Given the description of an element on the screen output the (x, y) to click on. 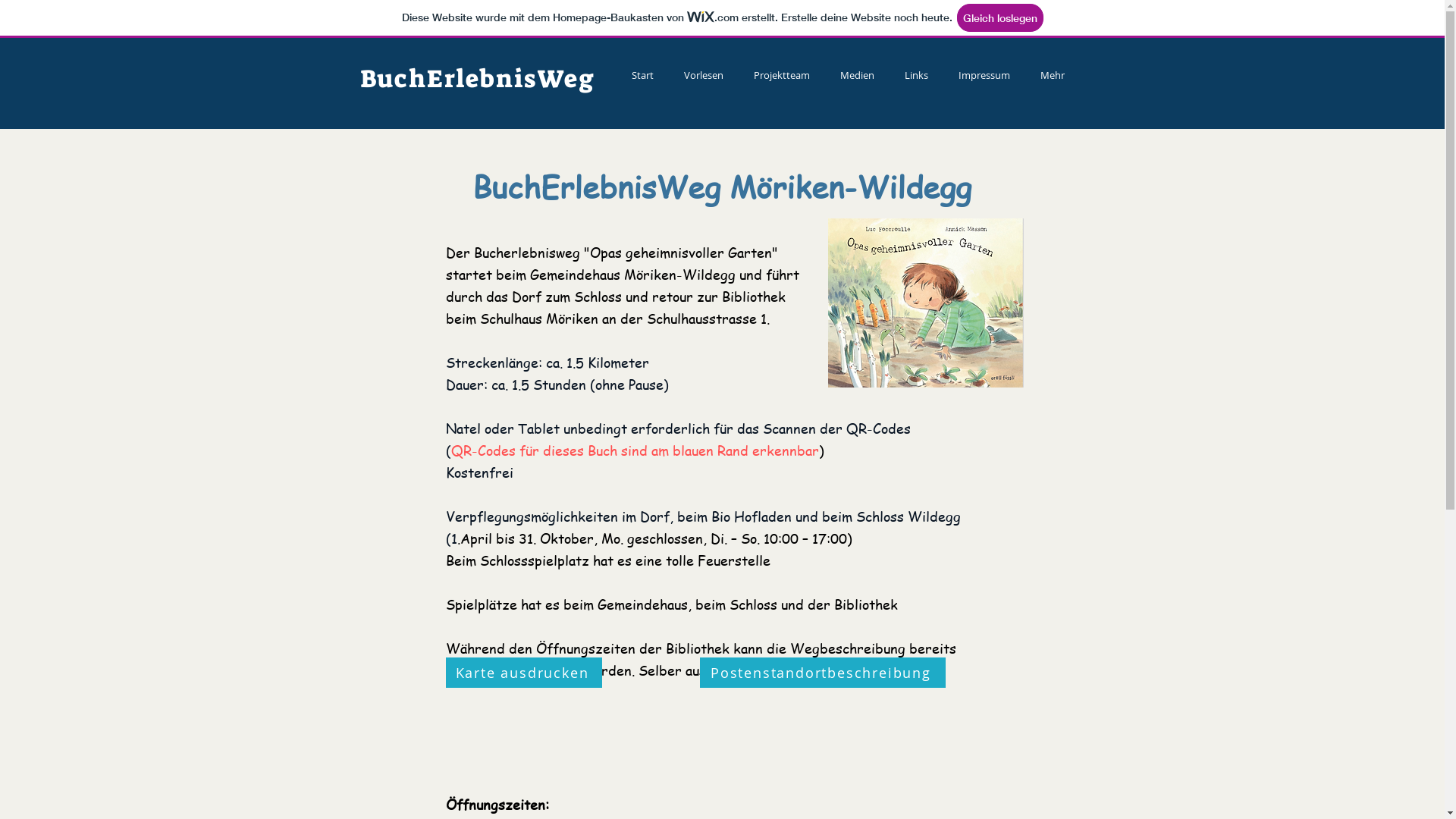
Start Element type: text (641, 75)
BuchErlebnisWeg Element type: text (477, 78)
Postenstandortbeschreibung Element type: text (821, 672)
Vorlesen Element type: text (703, 75)
Medien Element type: text (857, 75)
Impressum Element type: text (984, 75)
Links Element type: text (915, 75)
Projektteam Element type: text (781, 75)
Karte ausdrucken Element type: text (523, 672)
